Given the description of an element on the screen output the (x, y) to click on. 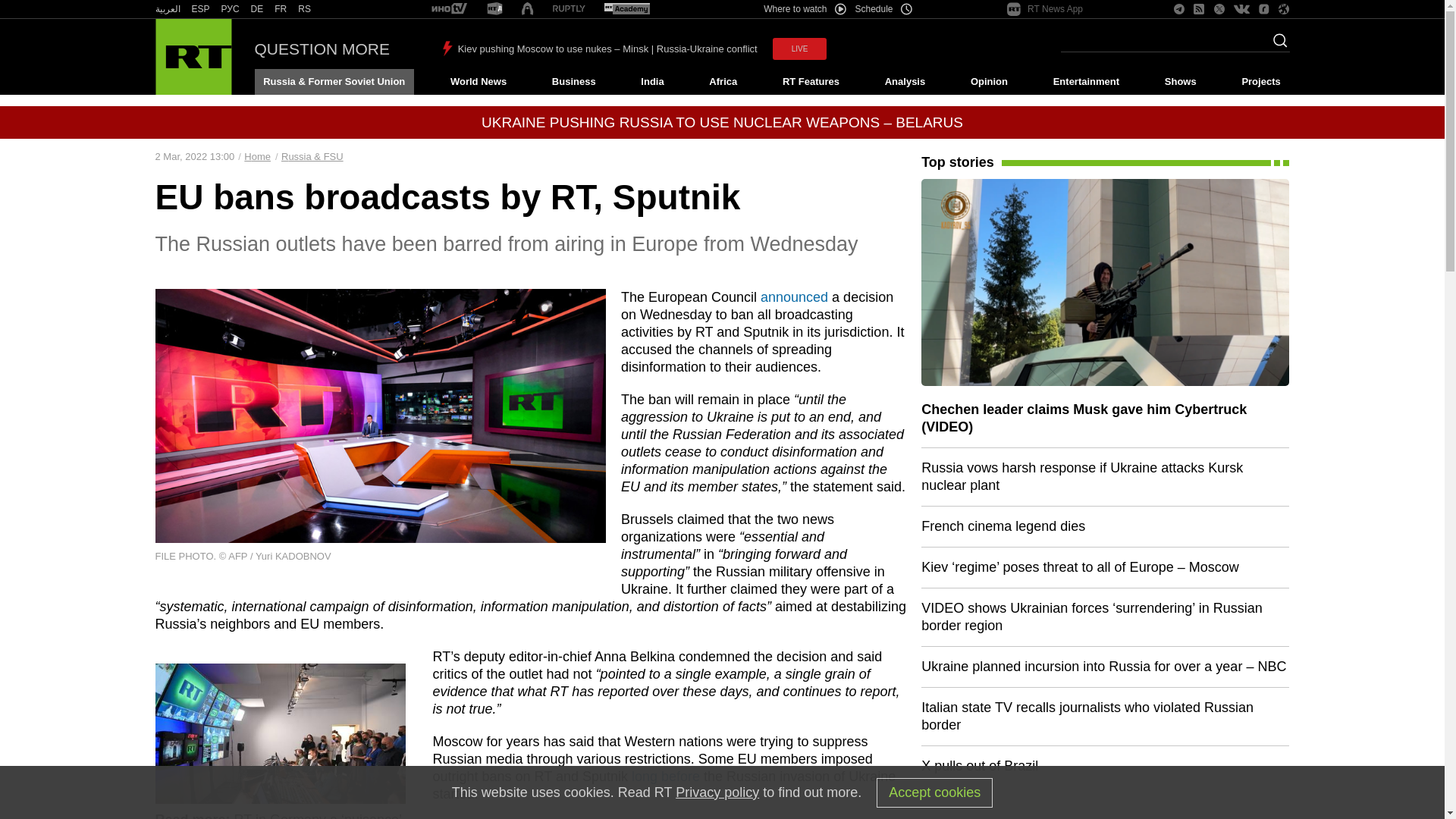
RT News App (1045, 9)
Search (1276, 44)
Shows (1180, 81)
World News (478, 81)
FR (280, 9)
Analysis (905, 81)
Where to watch (803, 9)
RT  (569, 8)
ESP (199, 9)
QUESTION MORE (322, 48)
